Given the description of an element on the screen output the (x, y) to click on. 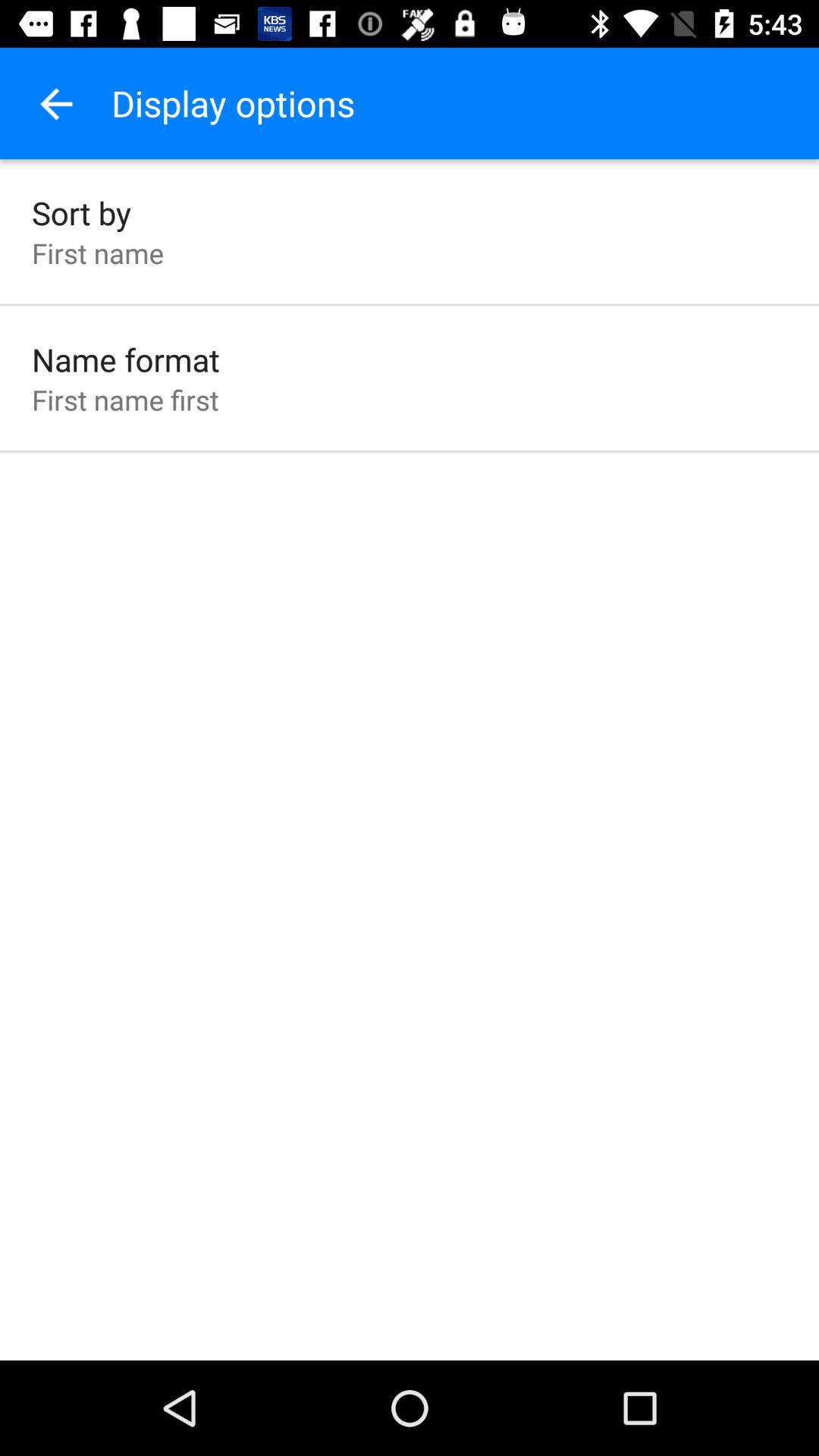
tap item above sort by item (55, 103)
